Given the description of an element on the screen output the (x, y) to click on. 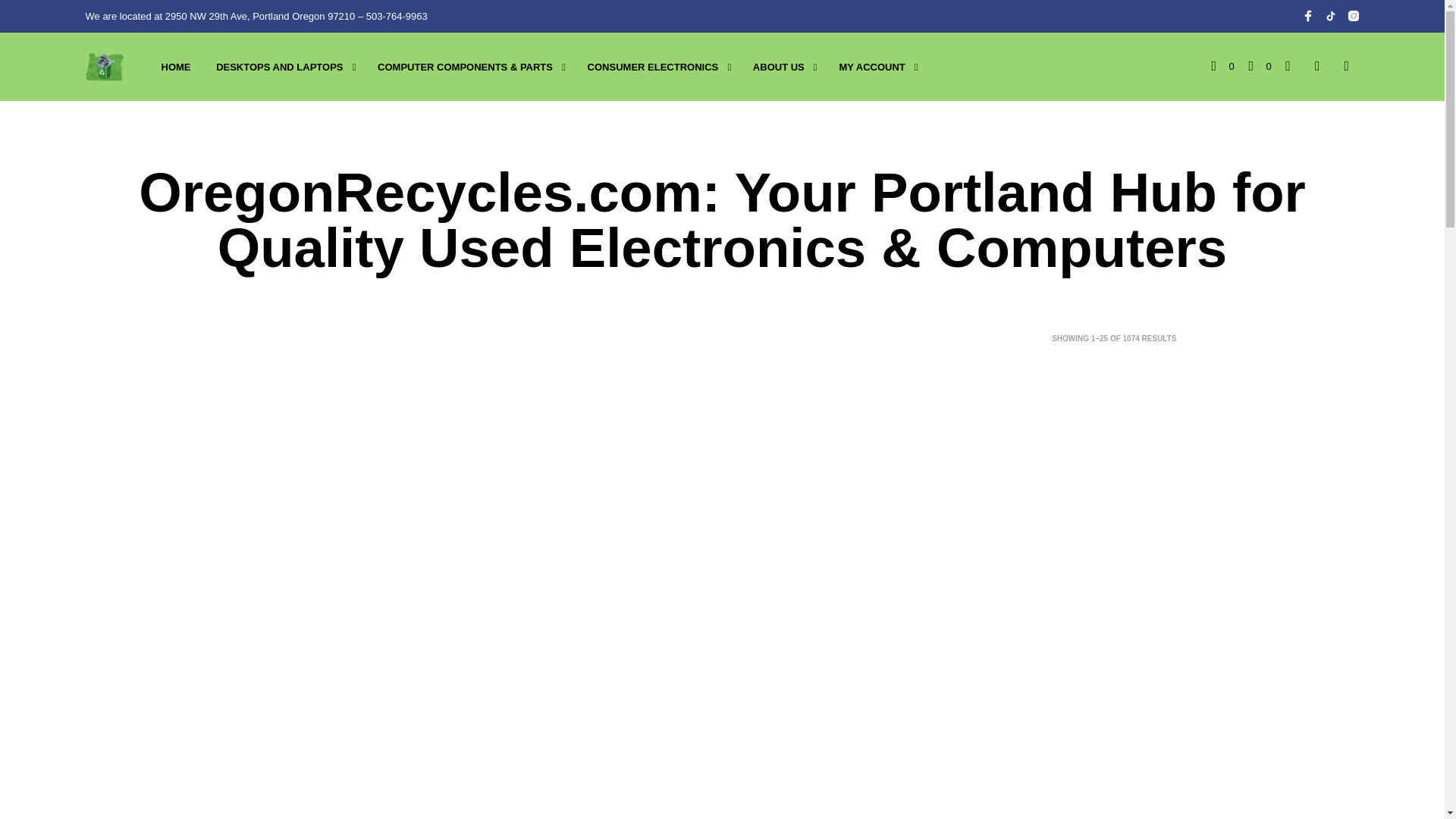
DESKTOPS AND LAPTOPS (279, 67)
HOME (175, 67)
503-764-9963 (397, 16)
2950 NW 29th Ave, Portland Oregon 97210 (260, 16)
